Given the description of an element on the screen output the (x, y) to click on. 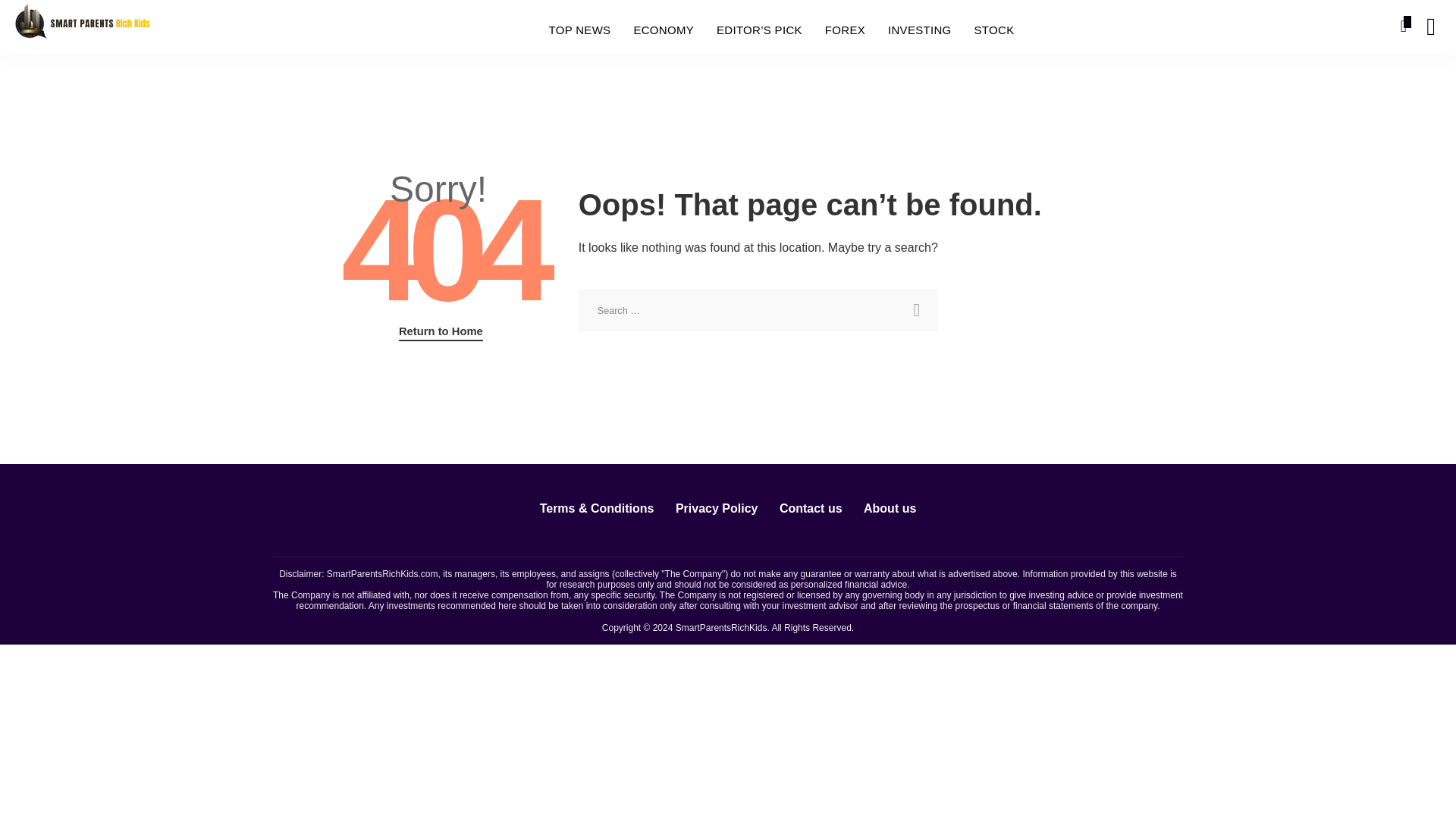
Smart Parents Rich Kids (81, 26)
Privacy Policy (716, 507)
About us (889, 507)
STOCK (994, 30)
Search (916, 310)
Return to Home (440, 331)
SmartParentsRichKids.com (382, 573)
Search (916, 310)
INVESTING (919, 30)
Contact us (810, 507)
TOP NEWS (580, 30)
Search (916, 310)
ECONOMY (662, 30)
FOREX (844, 30)
Search (1419, 84)
